Given the description of an element on the screen output the (x, y) to click on. 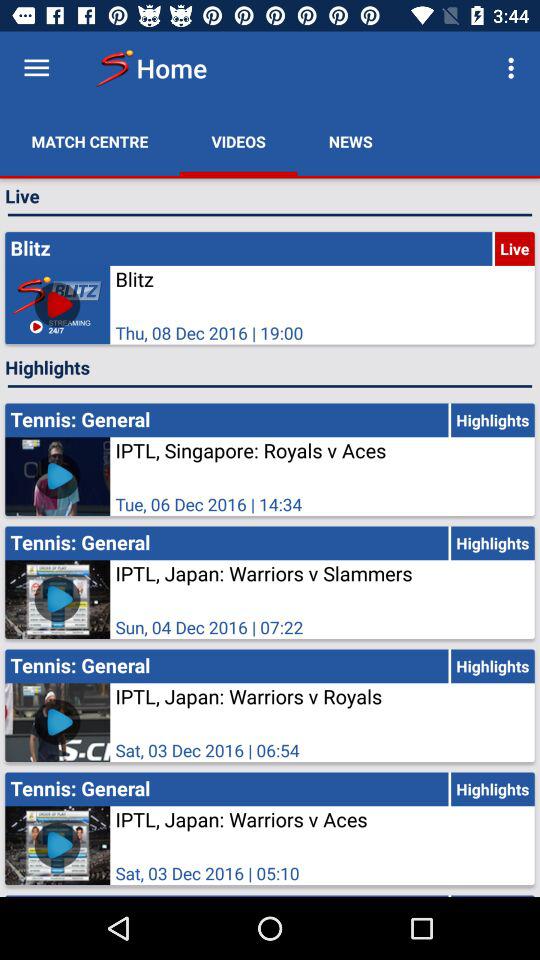
select icon above live (350, 141)
